Given the description of an element on the screen output the (x, y) to click on. 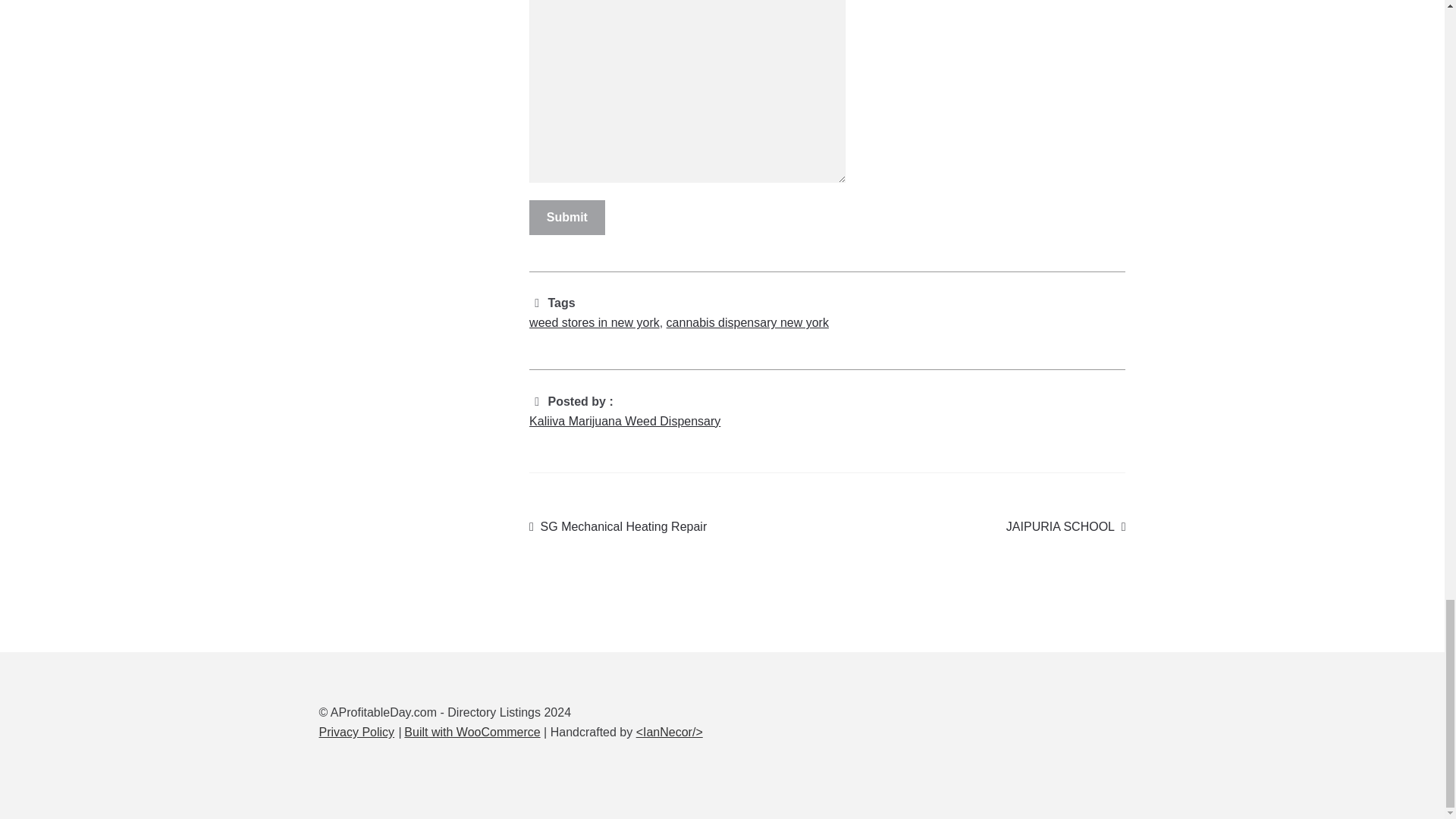
Submit (567, 217)
weed stores in new york (594, 322)
cannabis dispensary new york (747, 322)
